Given the description of an element on the screen output the (x, y) to click on. 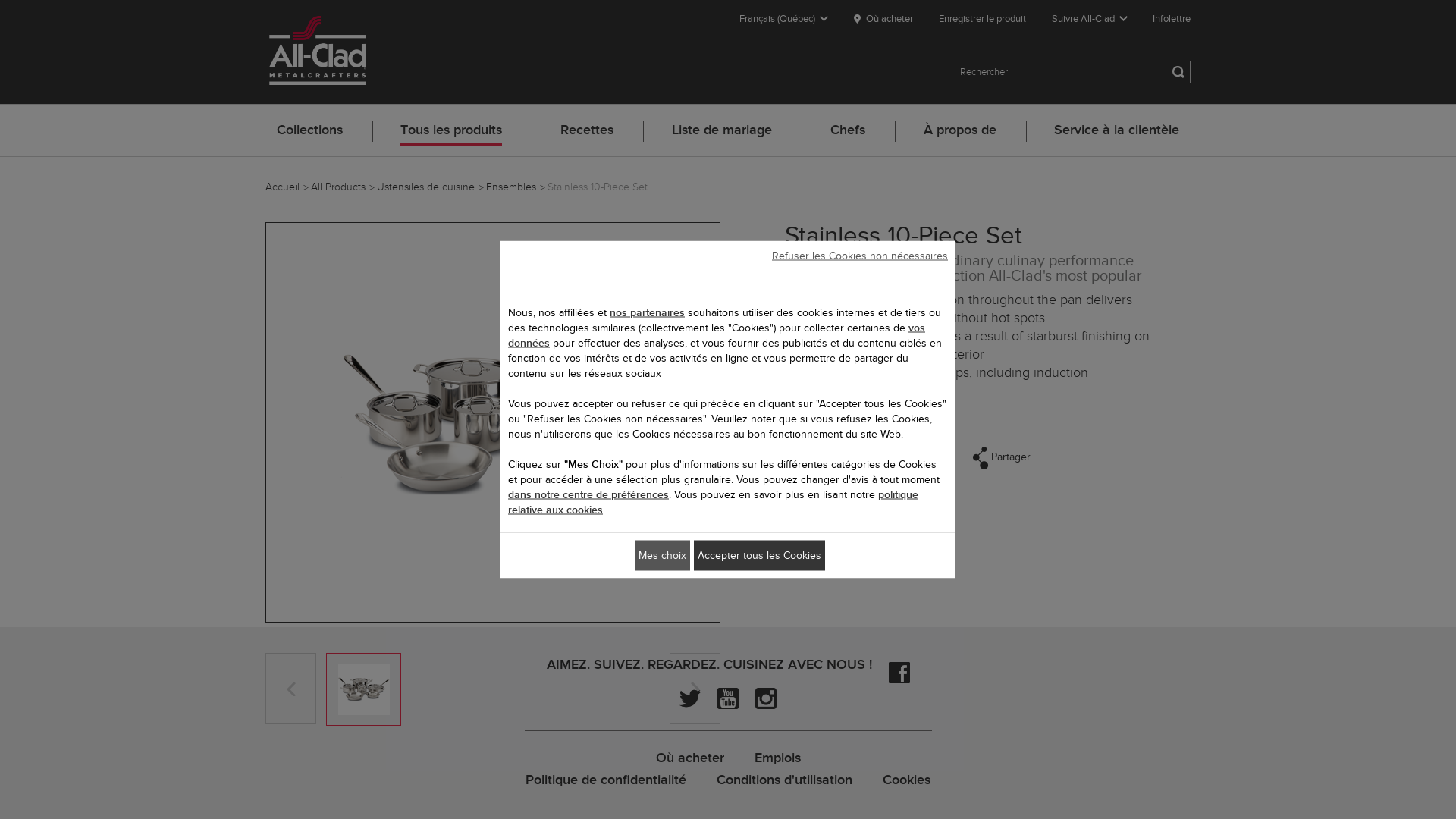
Chefs Element type: text (847, 130)
Partager Element type: text (1001, 457)
Infolettre Element type: text (1171, 18)
Ustensiles de cuisine Element type: text (429, 186)
Stainless 10-Piece Set Element type: hover (363, 689)
FAQ Element type: text (830, 787)
nos partenaires Element type: text (646, 312)
Accueil Element type: text (286, 186)
Facebook Element type: hover (899, 672)
DOCUMENTATION Element type: text (752, 787)
Mes choix Element type: text (662, 554)
Stainless 10-Piece Set Element type: hover (493, 421)
Ensembles Element type: text (515, 186)
Collections Element type: text (309, 130)
Cookies Element type: text (906, 779)
DESCRIPTION Element type: text (649, 787)
YouTube Element type: hover (727, 698)
Enregistrer le produit Element type: text (982, 18)
Accepter tous les Cookies Element type: text (759, 554)
Emplois Element type: text (776, 757)
Twitter Element type: hover (689, 698)
politique relative aux cookies Element type: text (713, 502)
Stainless 10-Piece Set Element type: text (597, 186)
Recettes Element type: text (586, 130)
Tous les produits Element type: text (451, 130)
All Products Element type: text (342, 186)
Liste de mariage Element type: text (721, 130)
Suivre All-Clad Element type: text (1089, 18)
Instagram Element type: hover (765, 698)
Conditions d'utilisation Element type: text (784, 779)
